Given the description of an element on the screen output the (x, y) to click on. 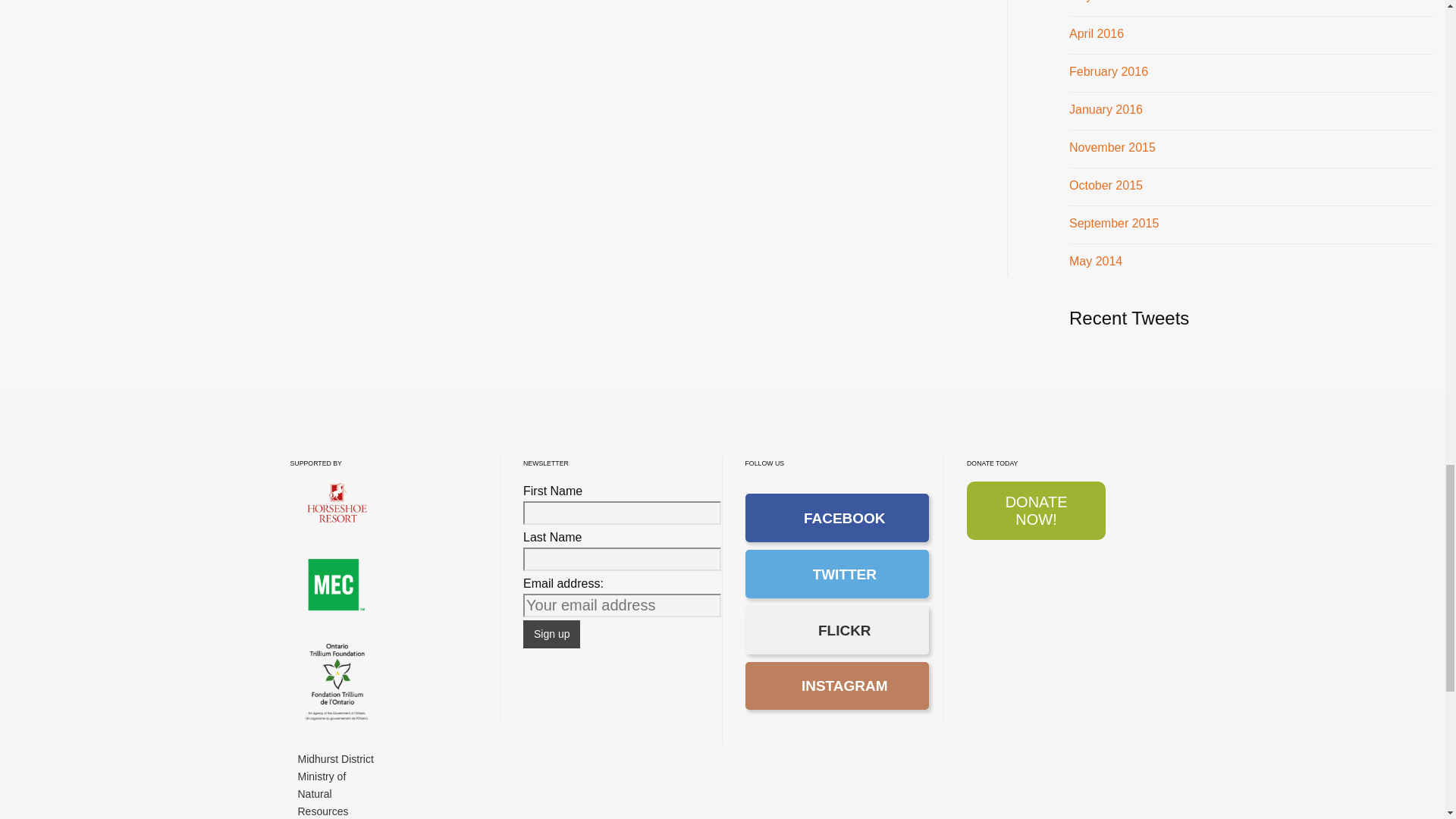
Sign up (550, 633)
Flickr (836, 630)
Facebook (836, 517)
Twitter (836, 573)
Instagram (836, 685)
